Given the description of an element on the screen output the (x, y) to click on. 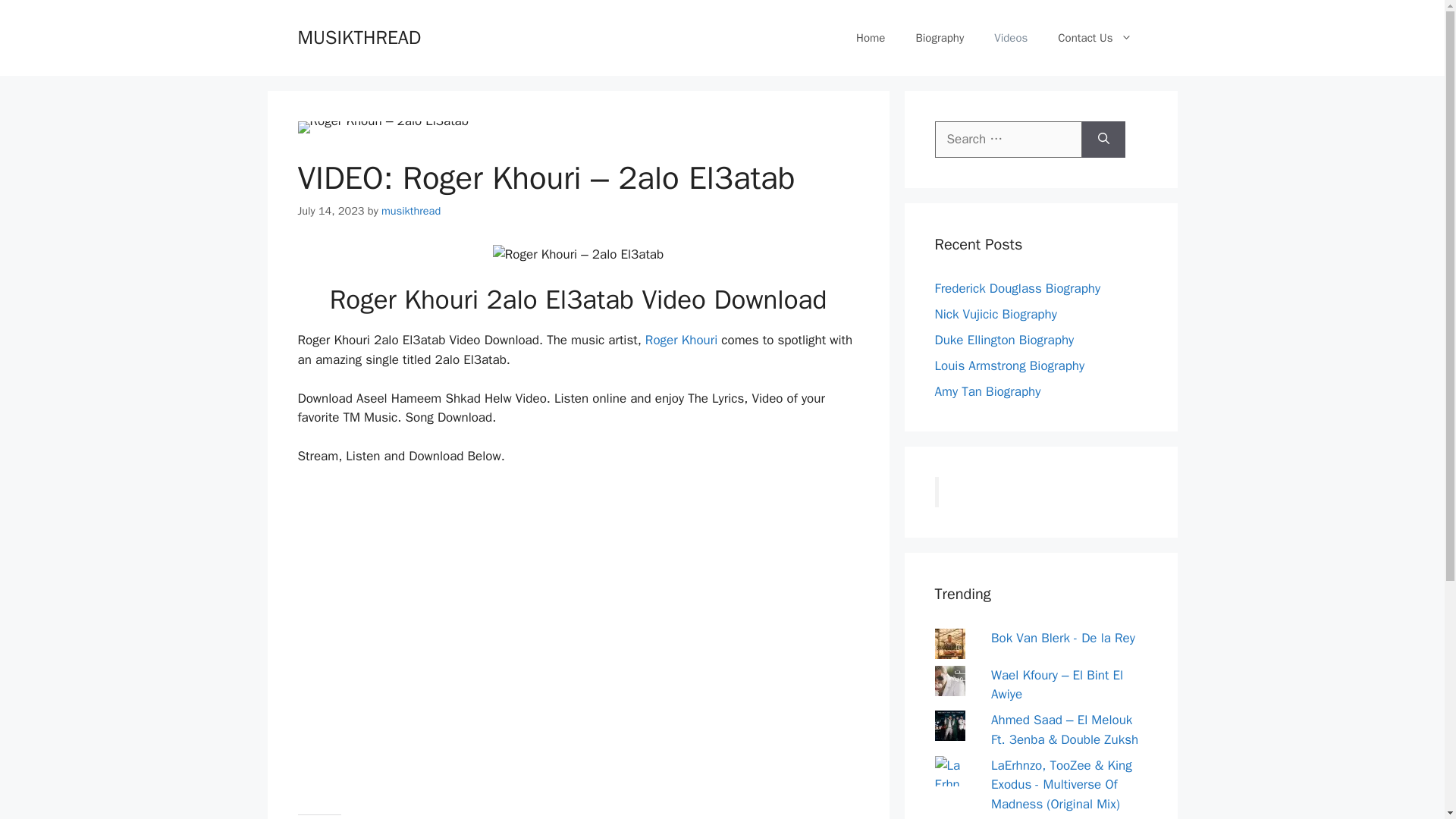
Amy Tan Biography (987, 391)
Home (870, 37)
Roger Khouri (681, 340)
Bok Van Blerk - De la Rey (1063, 637)
Videos (1010, 37)
Biography (938, 37)
Search for: (1007, 139)
Nick Vujicic Biography (995, 314)
Bok Van Blerk - De la Rey (1063, 637)
Frederick Douglass Biography (1017, 288)
